Given the description of an element on the screen output the (x, y) to click on. 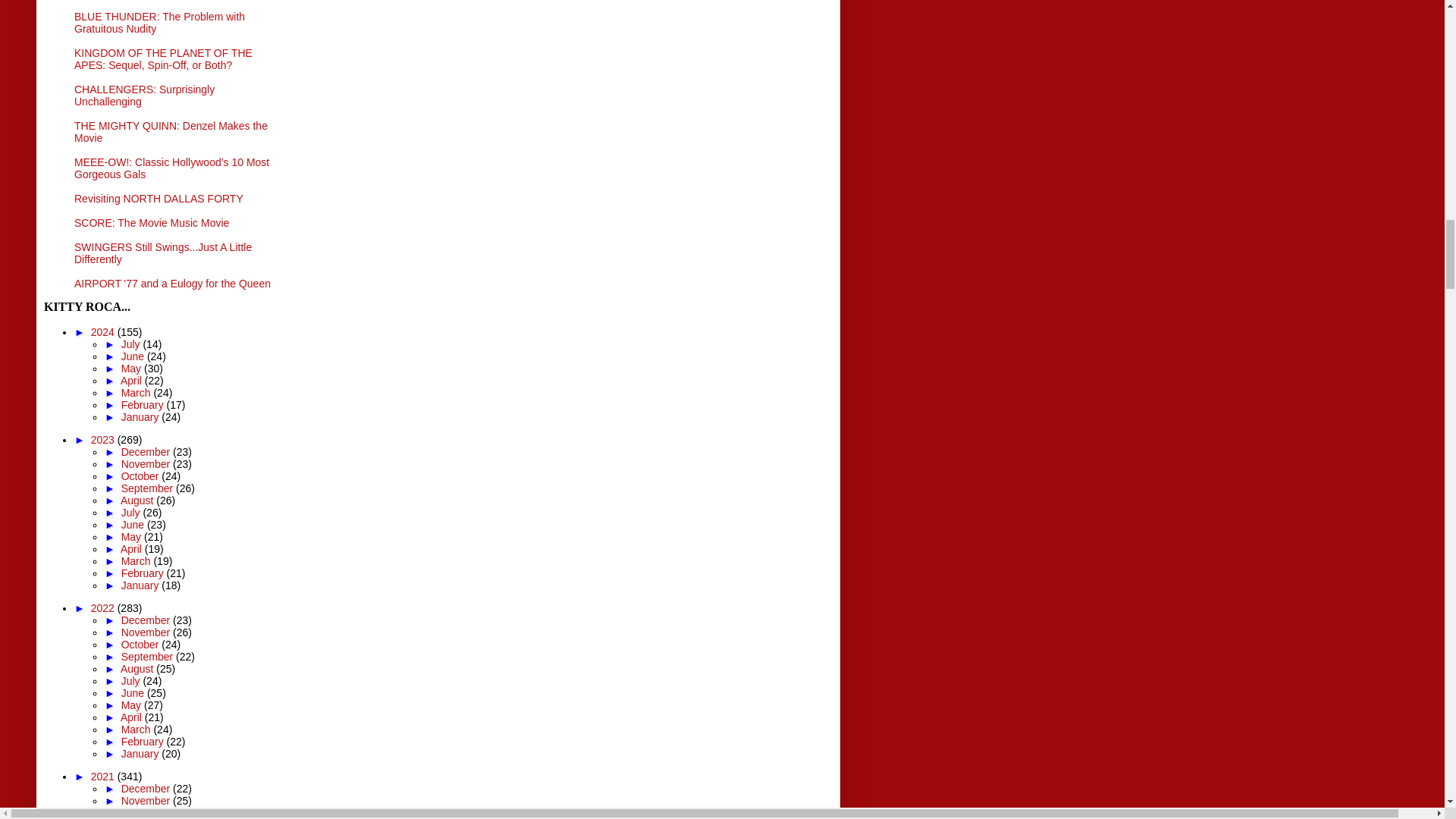
CHALLENGERS: Surprisingly Unchallenging (144, 95)
BLUE THUNDER: The Problem with Gratuitous Nudity (159, 22)
